Given the description of an element on the screen output the (x, y) to click on. 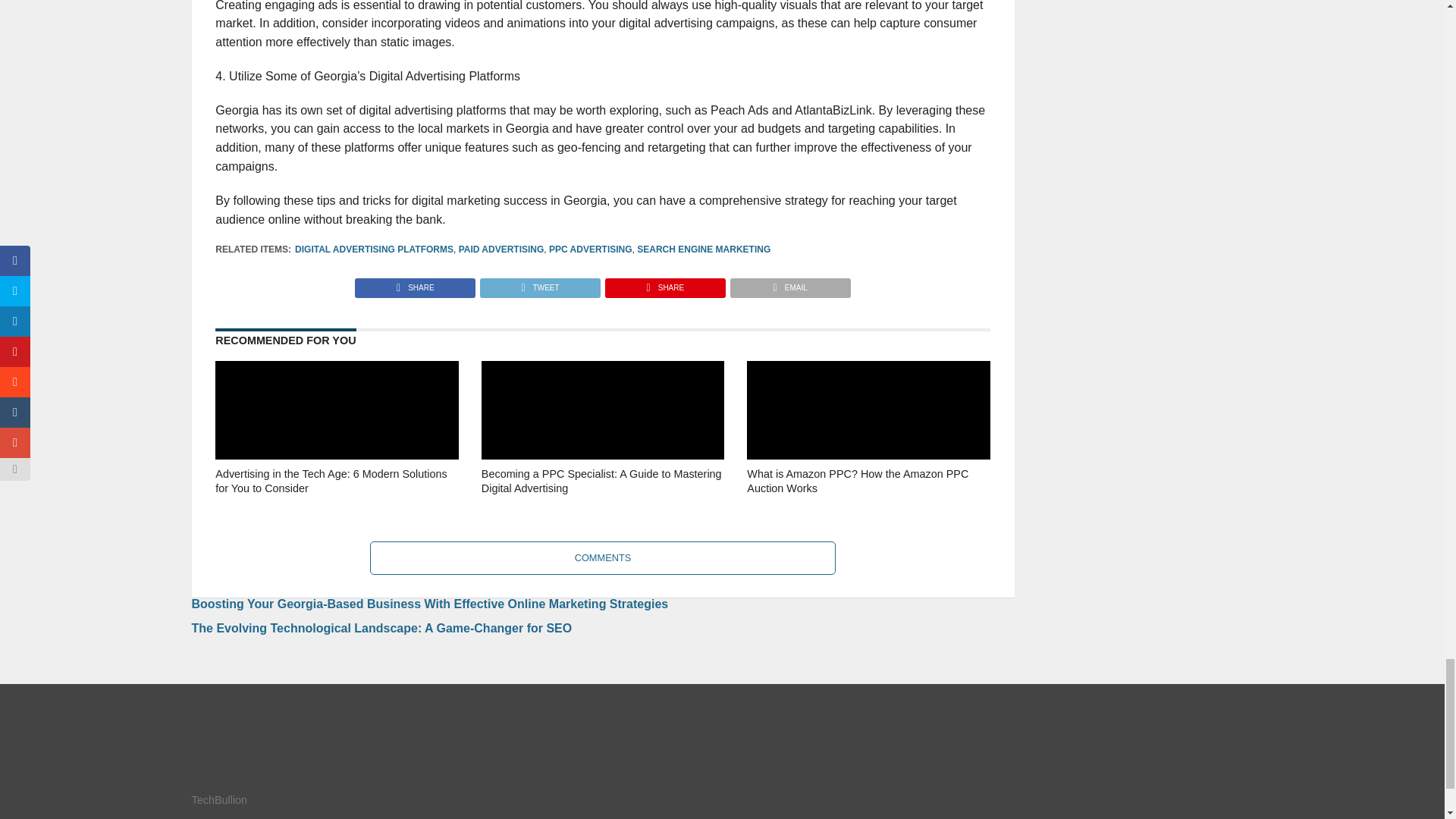
Share on Facebook (415, 283)
Tweet This Post (539, 283)
What is Amazon PPC? How the Amazon PPC Auction Works (868, 502)
Pin This Post (664, 283)
